Given the description of an element on the screen output the (x, y) to click on. 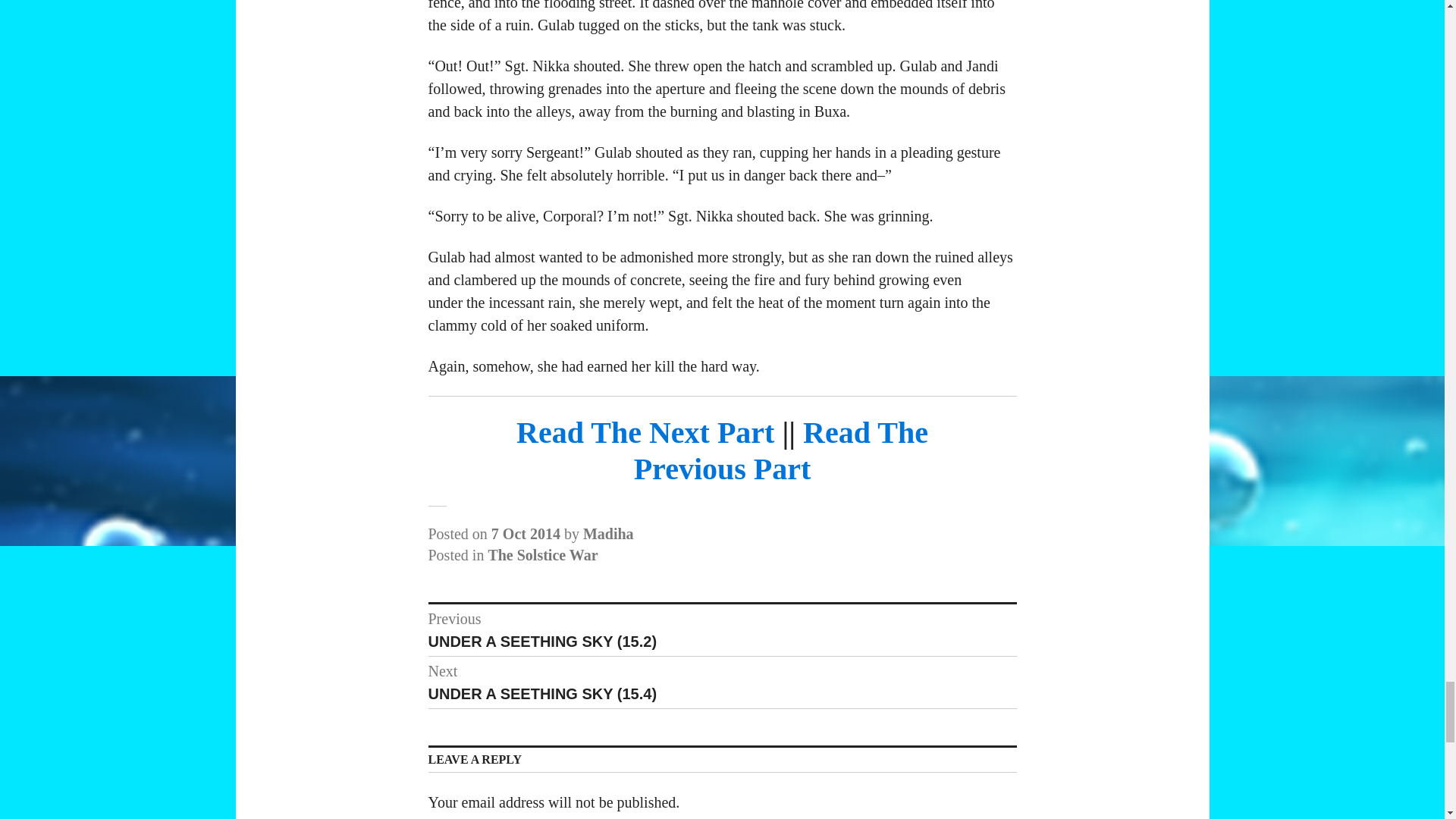
Read The Previous Part (780, 450)
Madiha (608, 533)
The Solstice War (541, 555)
7 Oct 2014 (526, 533)
Read The Next Part (645, 432)
